Given the description of an element on the screen output the (x, y) to click on. 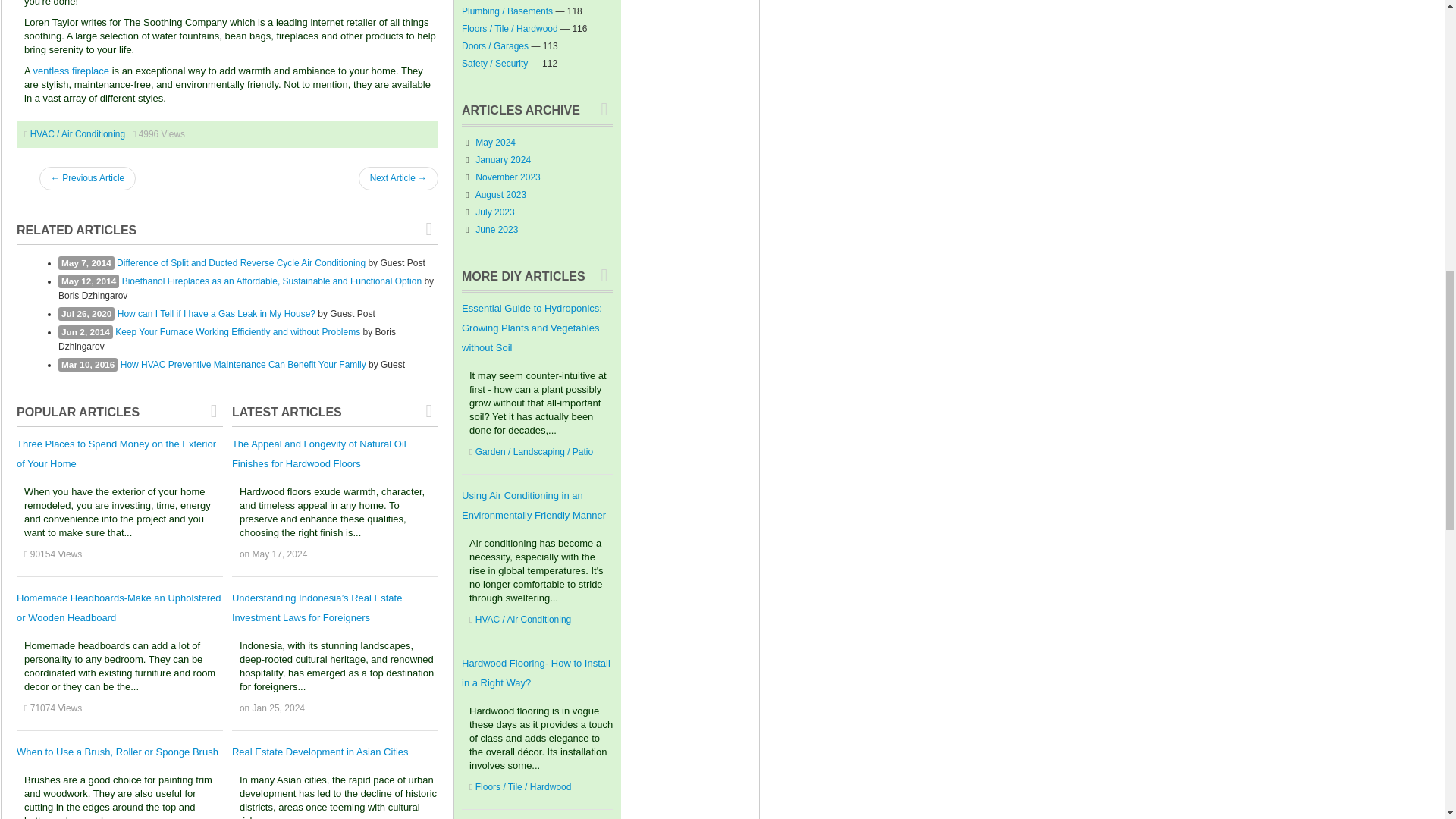
ventless fireplace (71, 70)
Five Tips to Reduce Cold Winter Drafts (398, 178)
How HVAC Preventive Maintenance Can Benefit Your Family (243, 364)
Homemade Headboards-Make an Upholstered or Wooden Headboard (118, 607)
Three Places to Spend Money on the Exterior of Your Home (115, 453)
How can I Tell if I have a Gas Leak in My House? (216, 313)
When to Use a Brush, Roller or Sponge Brush (117, 751)
Help Your Boiler to Help You This Winter (87, 178)
Keep Your Furnace Working Efficiently and without Problems (237, 331)
